Given the description of an element on the screen output the (x, y) to click on. 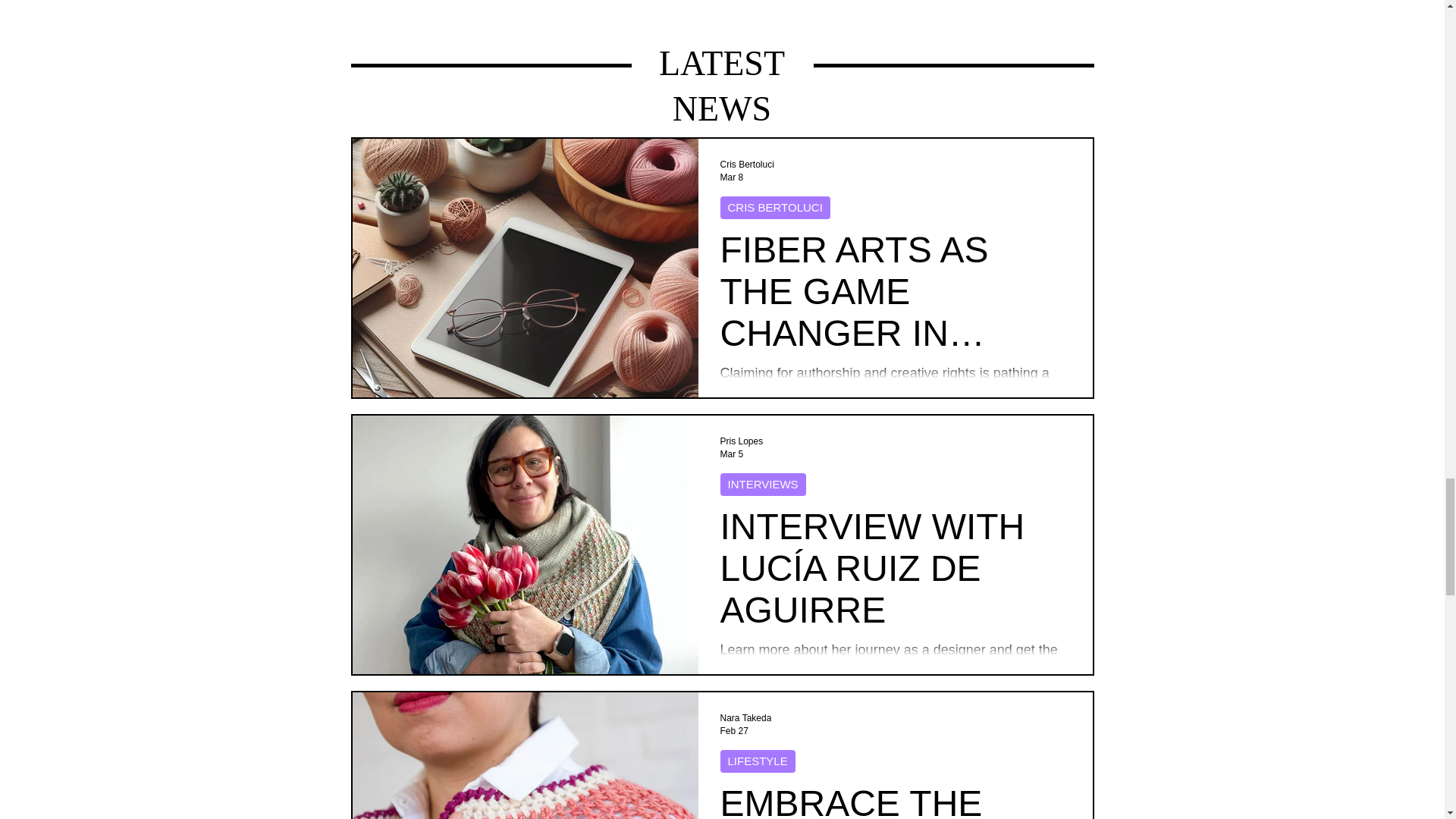
Cris Bertoluci (747, 163)
Mar 8 (732, 176)
Nara Takeda (745, 717)
Pris Lopes (741, 440)
Feb 27 (734, 730)
Mar 5 (732, 453)
